Given the description of an element on the screen output the (x, y) to click on. 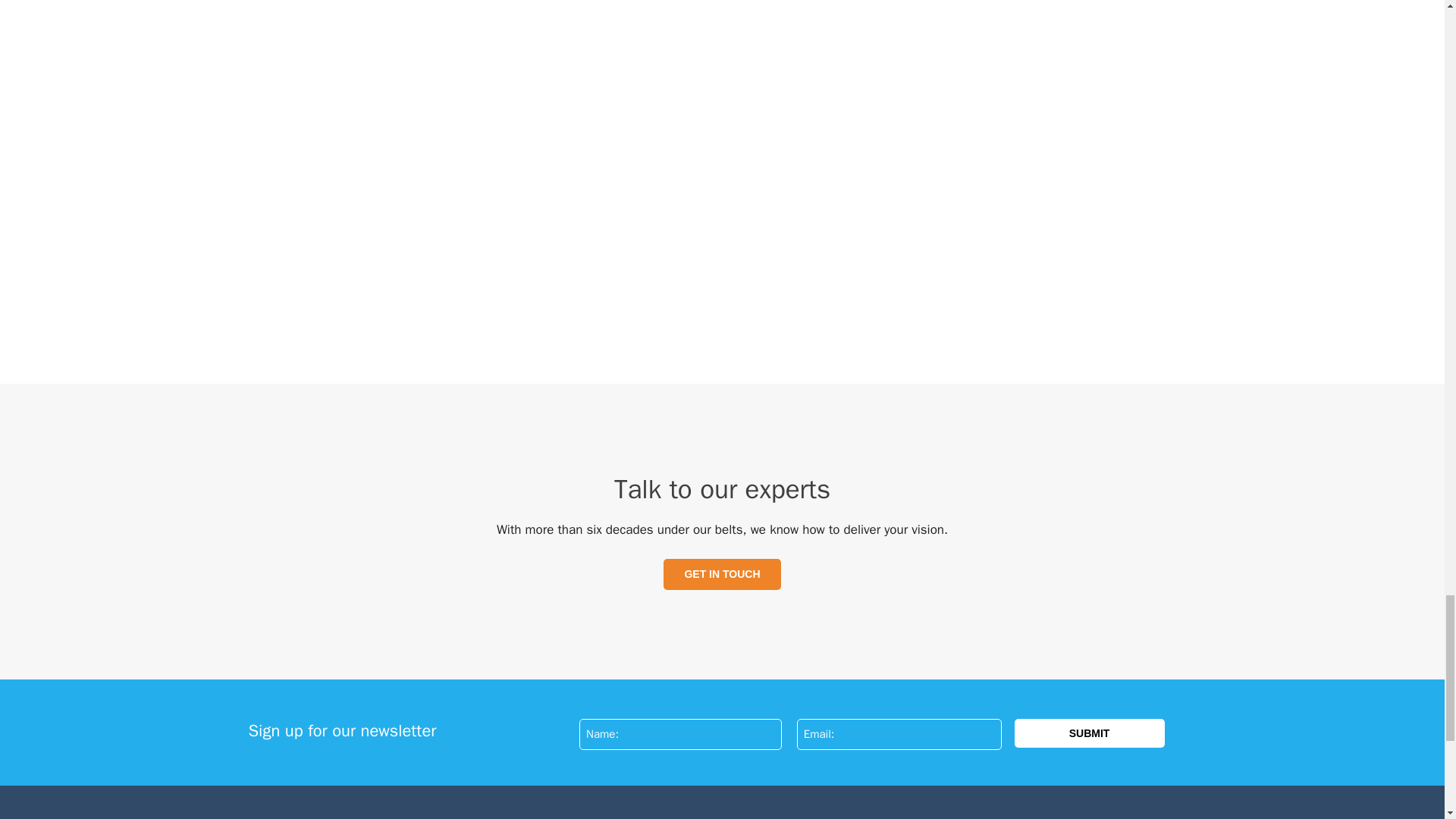
Submit (1089, 733)
